Given the description of an element on the screen output the (x, y) to click on. 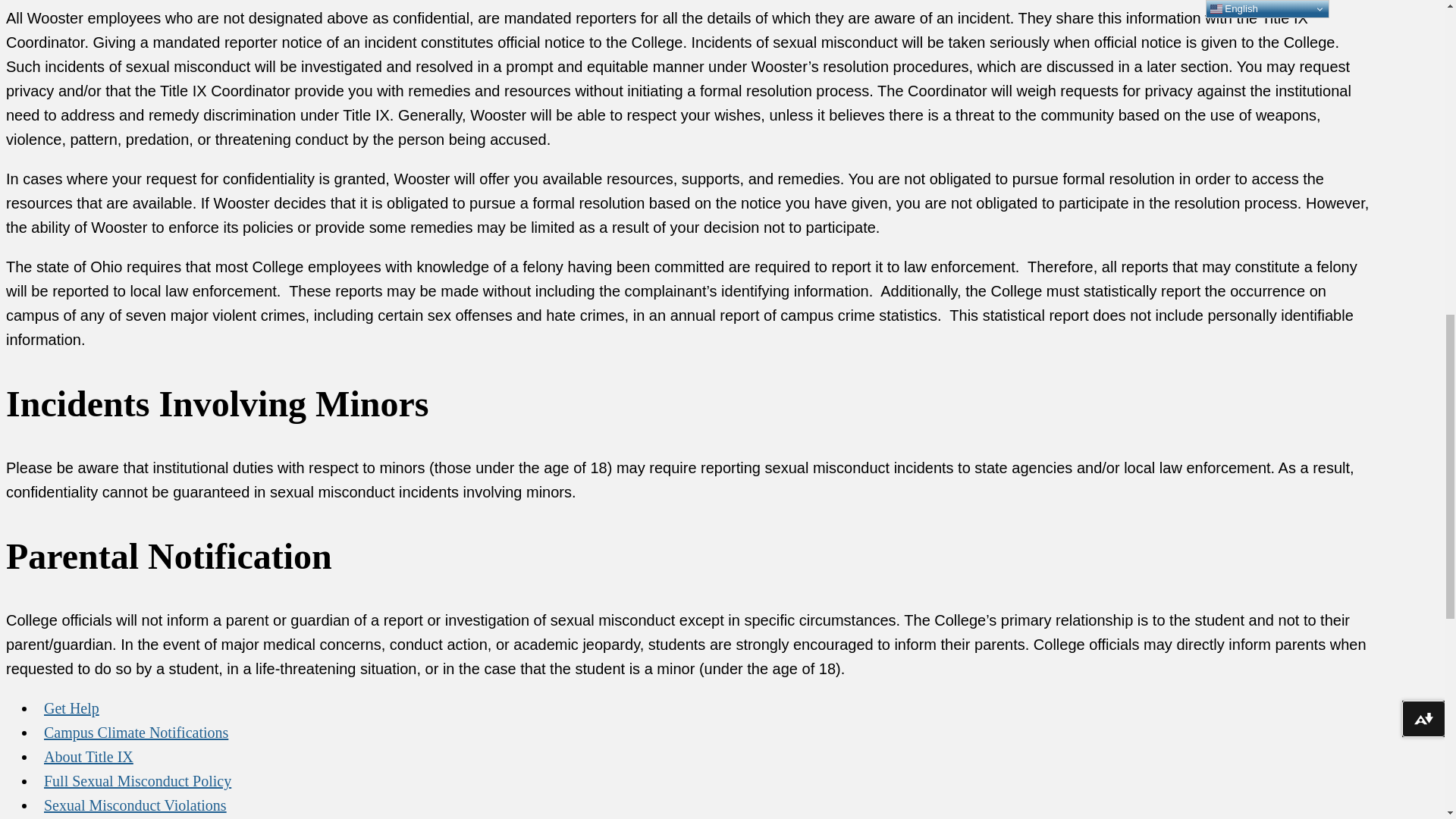
What Is and Is Not Consent (127, 816)
About Title IX (88, 757)
Sexual Misconduct Violations (135, 804)
Campus Climate Notifications (135, 732)
Get Help (71, 707)
Full Sexual Misconduct Policy (137, 780)
